Given the description of an element on the screen output the (x, y) to click on. 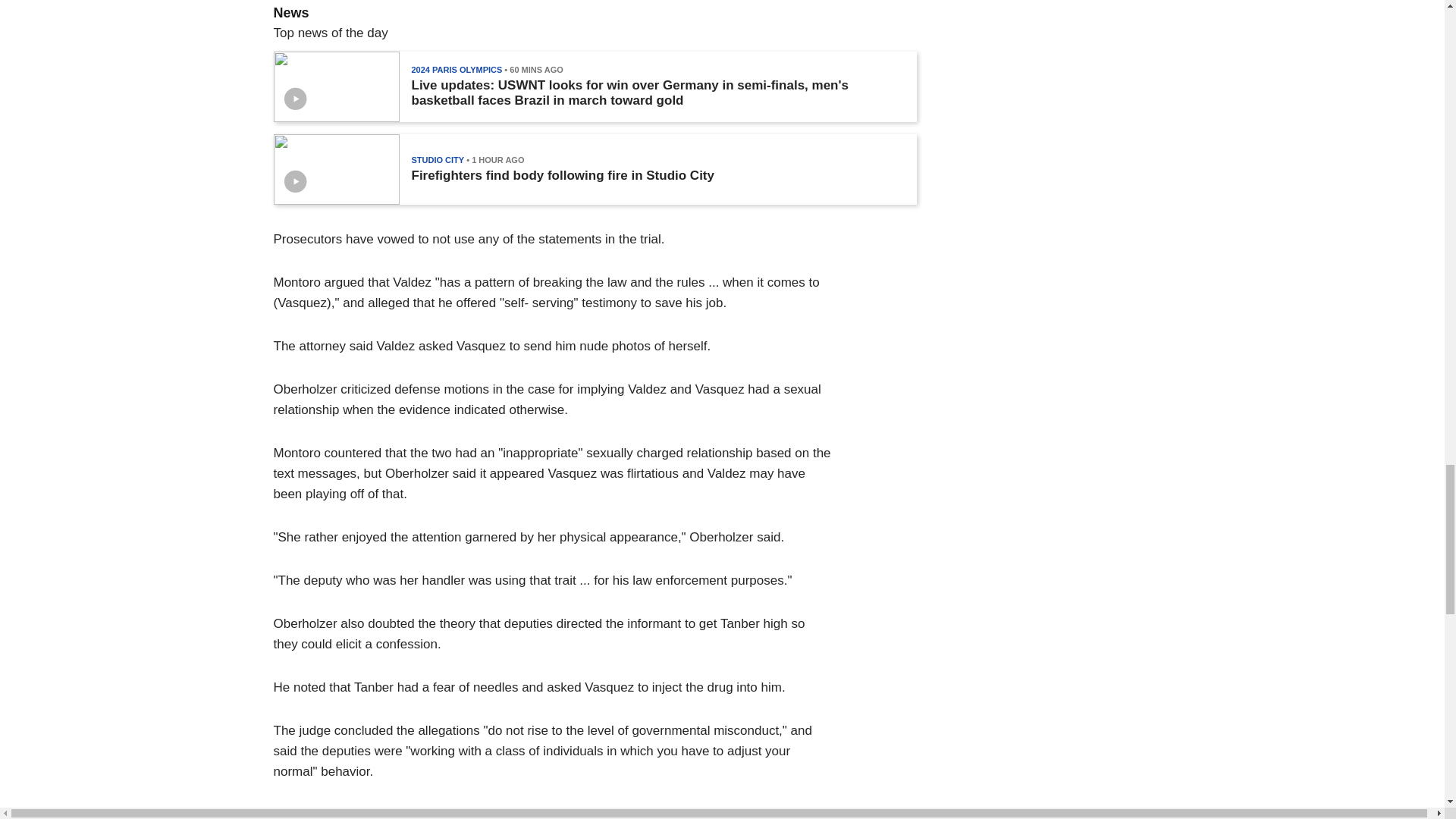
Firefighters find body following fire in Studio City (561, 175)
2024 PARIS OLYMPICS (456, 69)
STUDIO CITY (437, 159)
